Given the description of an element on the screen output the (x, y) to click on. 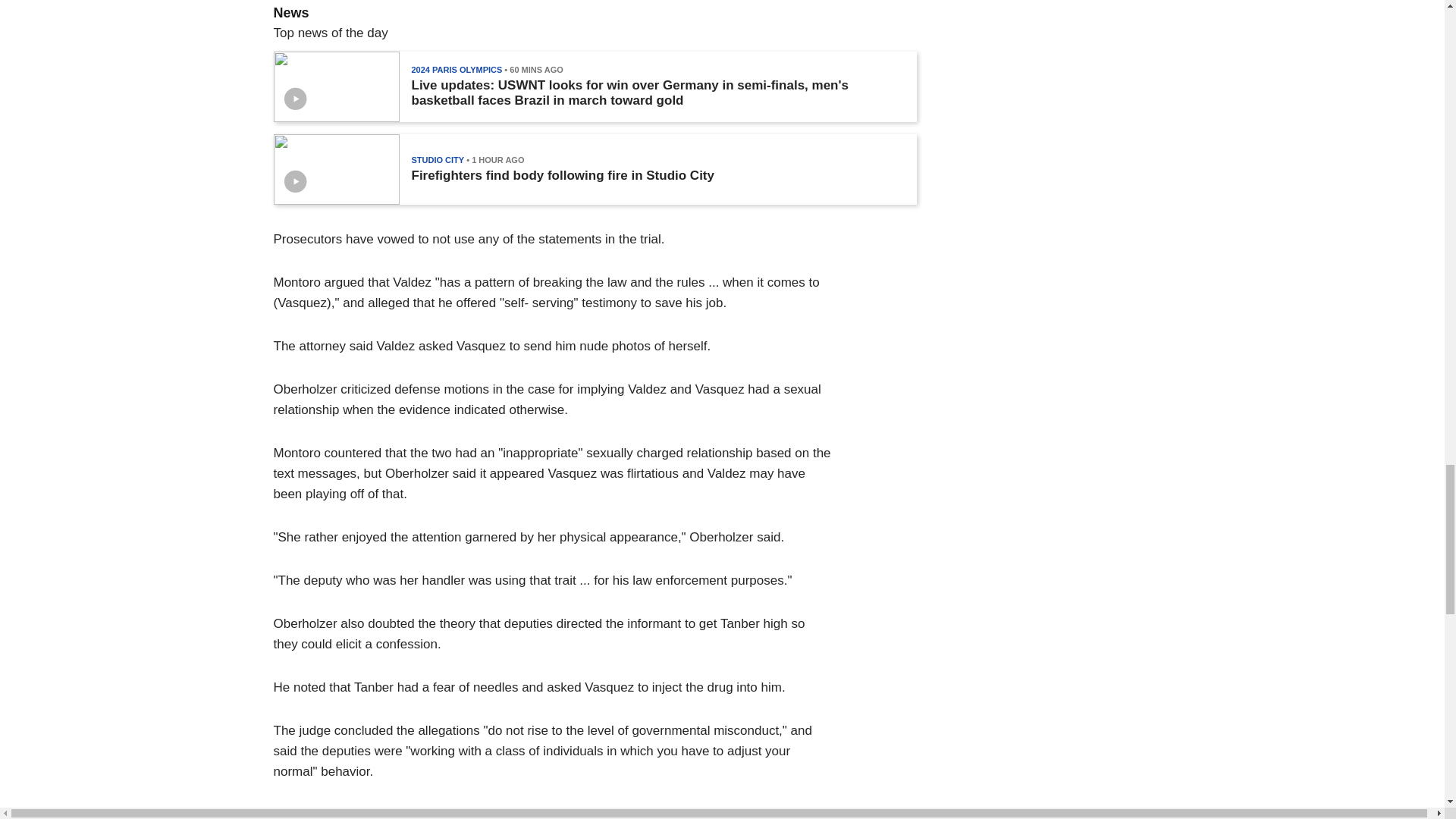
Firefighters find body following fire in Studio City (561, 175)
2024 PARIS OLYMPICS (456, 69)
STUDIO CITY (437, 159)
